Given the description of an element on the screen output the (x, y) to click on. 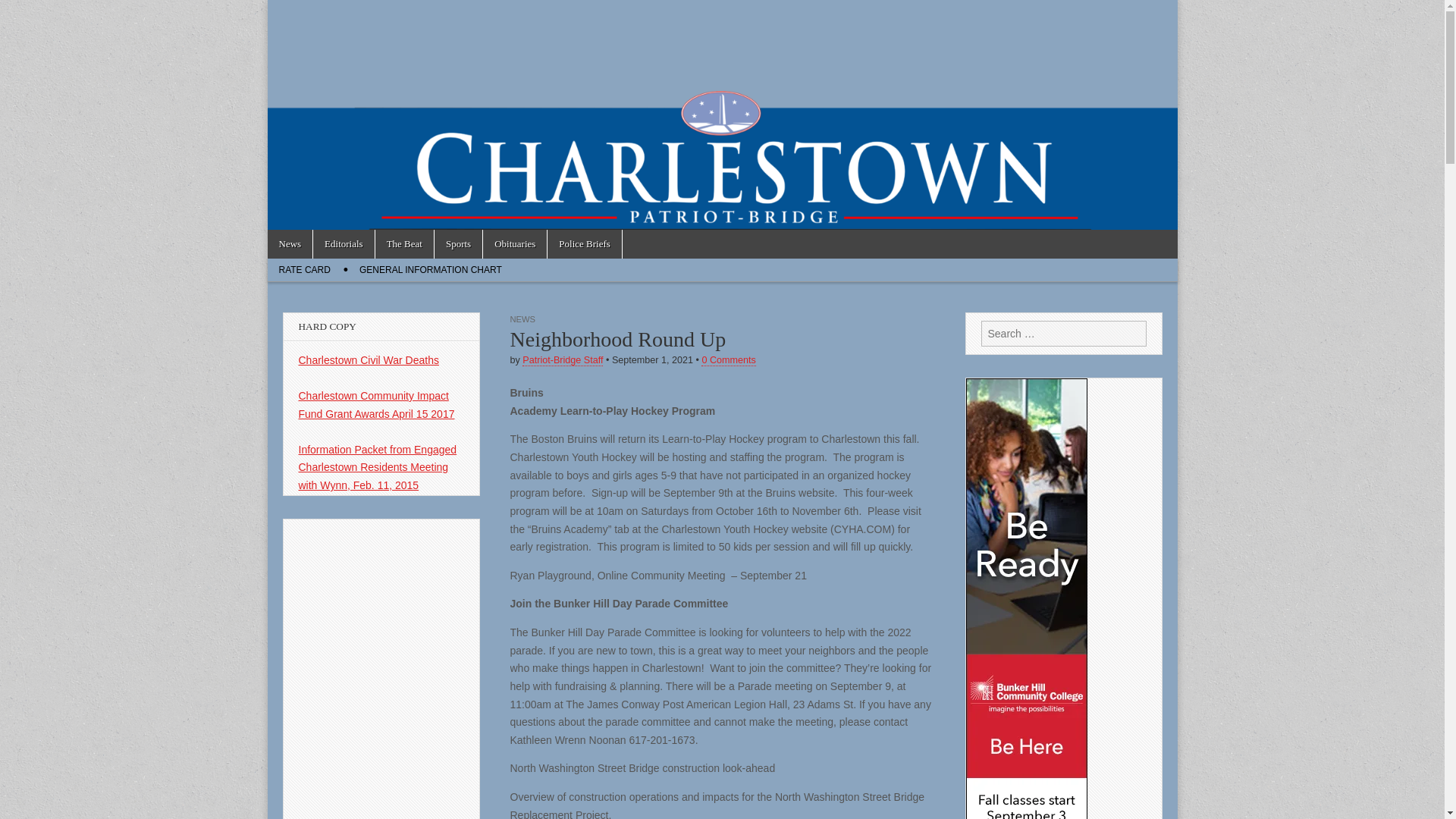
Patriot-Bridge Staff (562, 360)
RATE CARD (303, 269)
Charlestown Civil War Deaths (368, 359)
Posts by Patriot-Bridge Staff (562, 360)
Obituaries (515, 244)
News (289, 244)
Police Briefs (584, 244)
0 Comments (728, 360)
GENERAL INFORMATION CHART (430, 269)
